Given the description of an element on the screen output the (x, y) to click on. 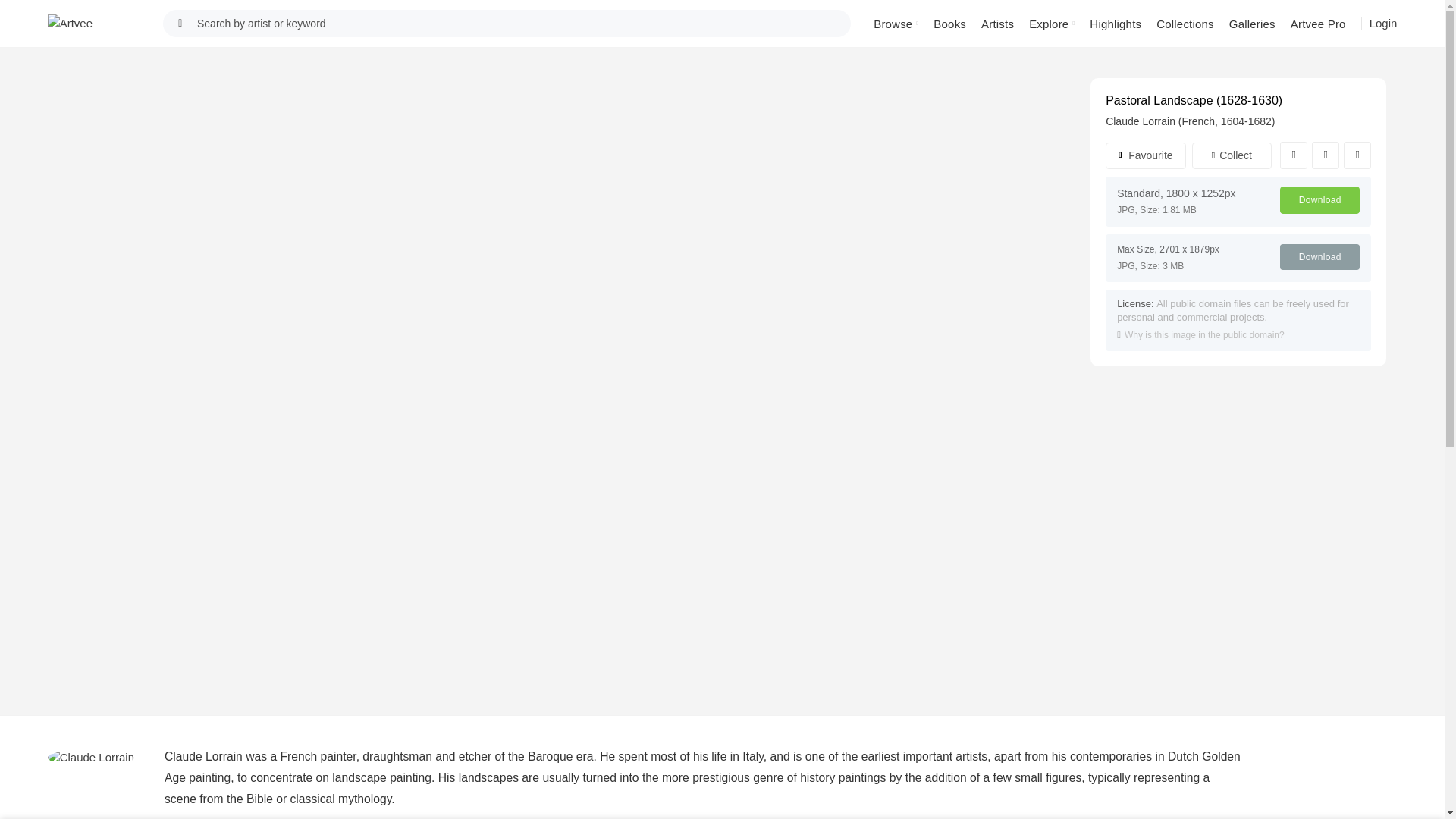
Download (1319, 199)
Download (1319, 257)
Claude Lorrain (90, 757)
Collections (1184, 23)
Claude Lorrain (1139, 121)
Login (1383, 23)
Artvee Pro (1318, 23)
Facebook (1293, 154)
Books (950, 23)
Collect (1232, 155)
Highlights (1114, 23)
Pinterest (1357, 154)
SEARCH (180, 22)
Artists (998, 23)
Twitter (1325, 154)
